Given the description of an element on the screen output the (x, y) to click on. 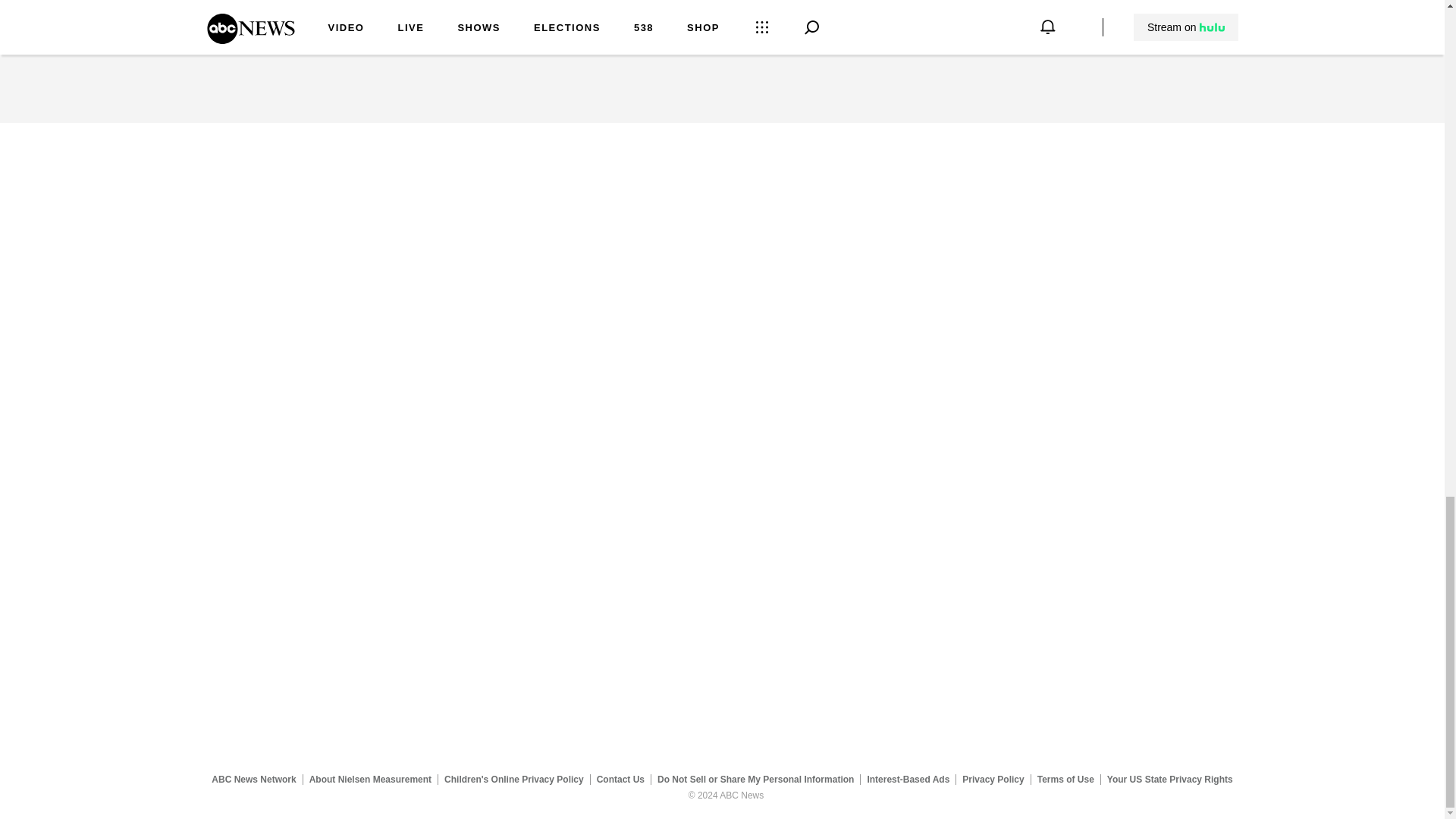
Your US State Privacy Rights (1169, 778)
Interest-Based Ads (908, 778)
Do Not Sell or Share My Personal Information (755, 778)
Terms of Use (1065, 778)
Privacy Policy (993, 778)
Contact Us (620, 778)
ABC News Network (253, 778)
About Nielsen Measurement (370, 778)
Children's Online Privacy Policy (514, 778)
